Given the description of an element on the screen output the (x, y) to click on. 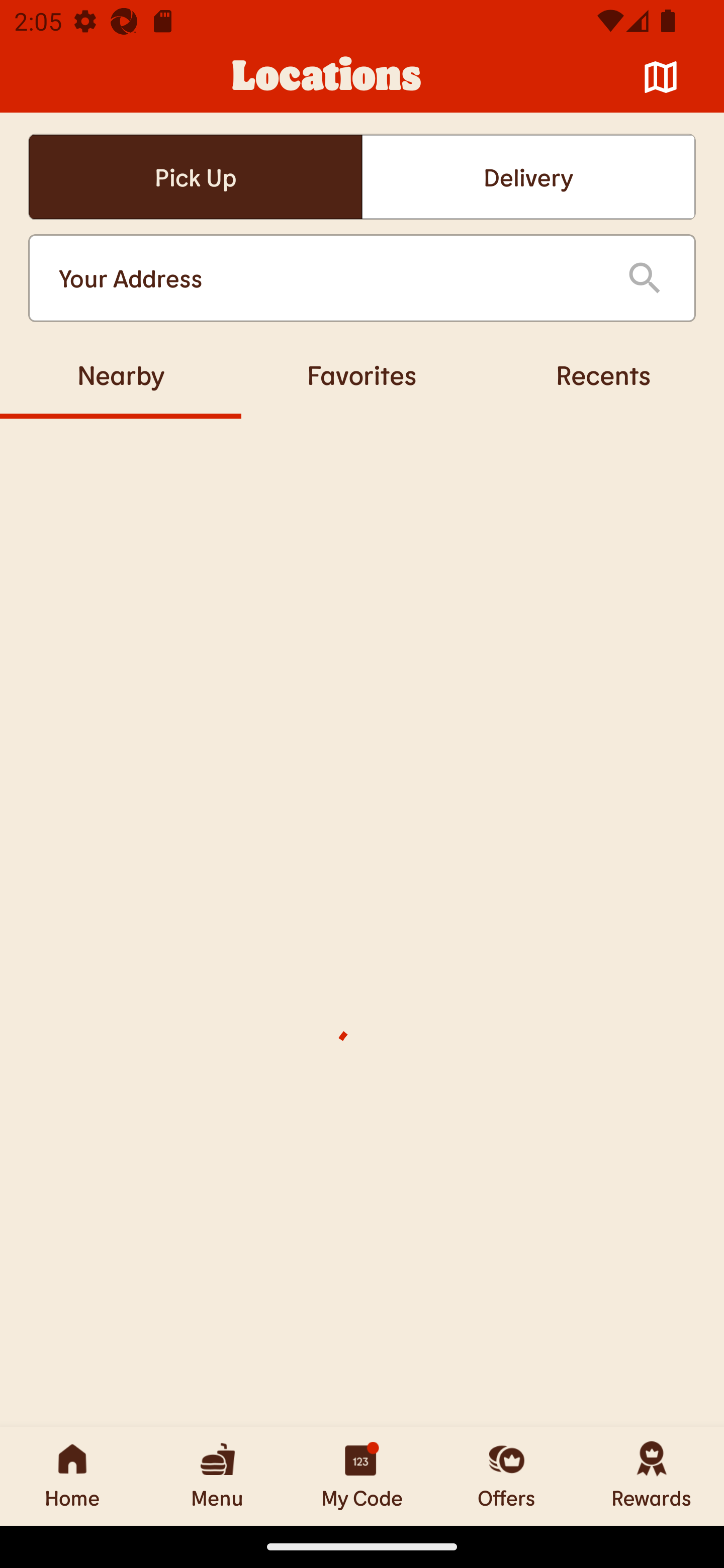
Map 󰦂 (660, 77)
Locations (326, 77)
Pick UpSelected Pick UpSelected Pick Up (195, 176)
Delivery Delivery Delivery (528, 176)
Your Address (327, 277)
Nearby (120, 374)
Favorites (361, 374)
Recents (603, 374)
Home (72, 1475)
Menu (216, 1475)
My Code (361, 1475)
Offers (506, 1475)
Rewards (651, 1475)
